Given the description of an element on the screen output the (x, y) to click on. 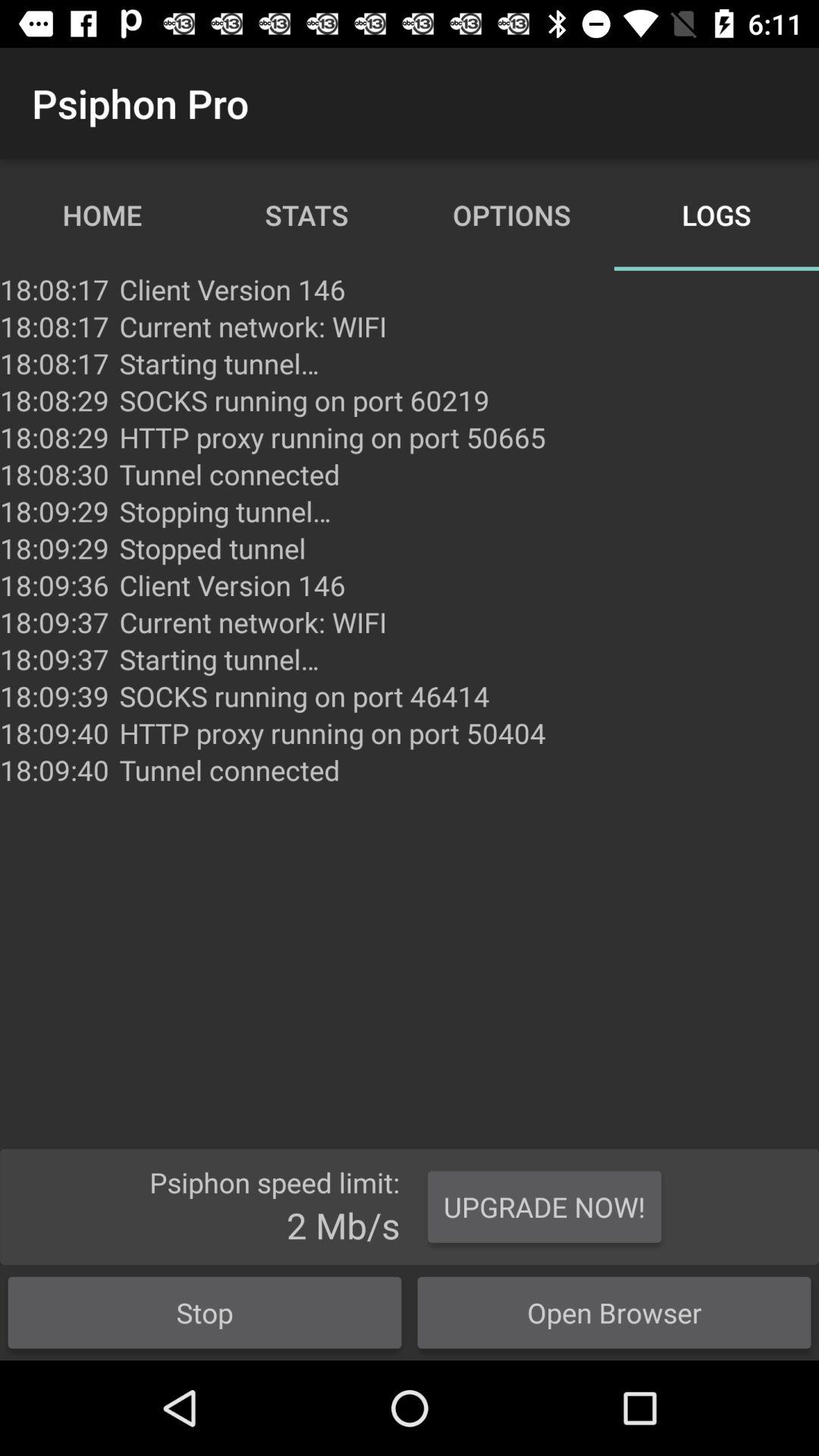
press item next to the 18:09:29 icon (212, 548)
